Given the description of an element on the screen output the (x, y) to click on. 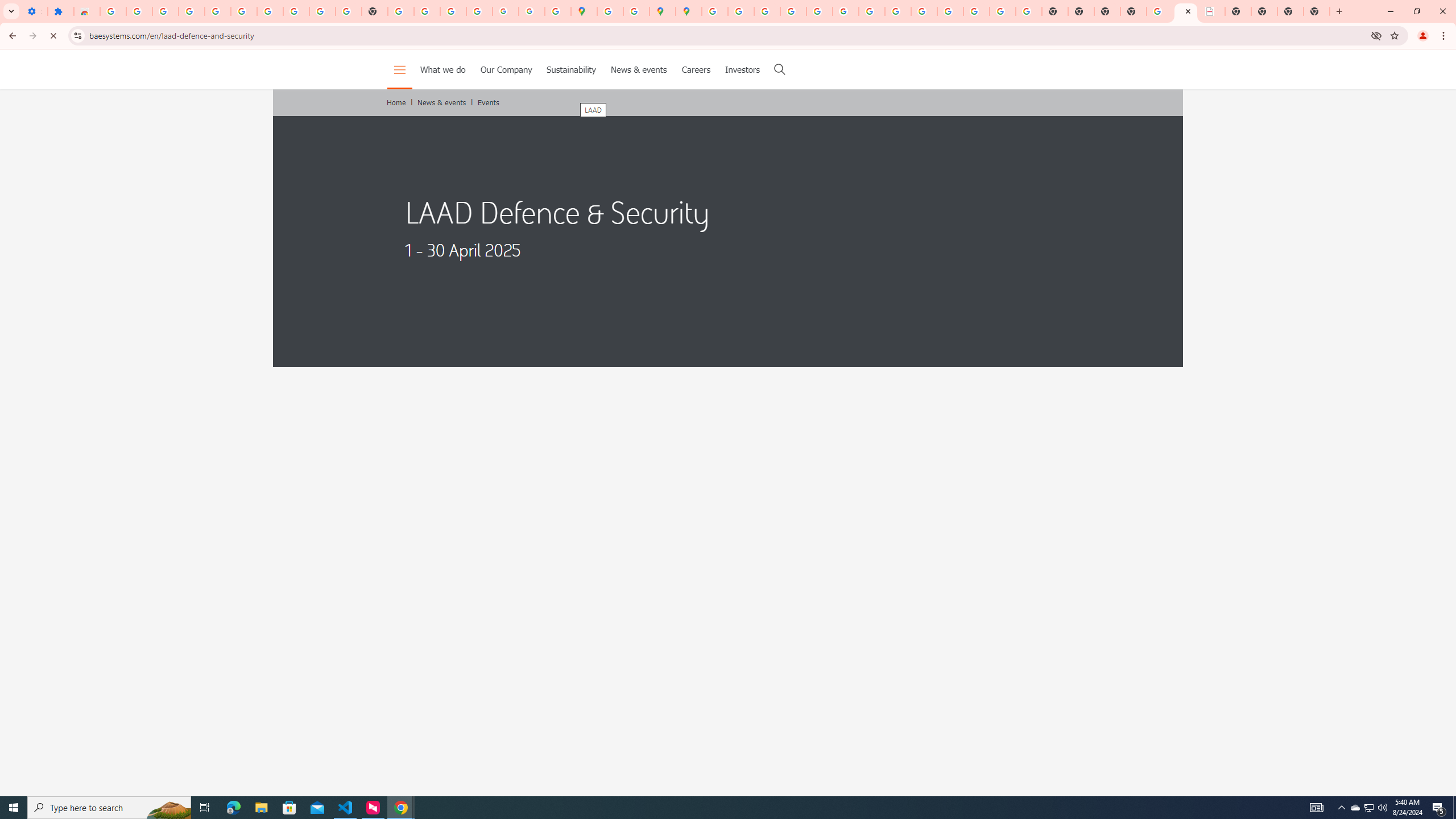
New Tab (1133, 11)
Sign in - Google Accounts (112, 11)
Google Account (296, 11)
Safety in Our Products - Google Safety Center (636, 11)
